Given the description of an element on the screen output the (x, y) to click on. 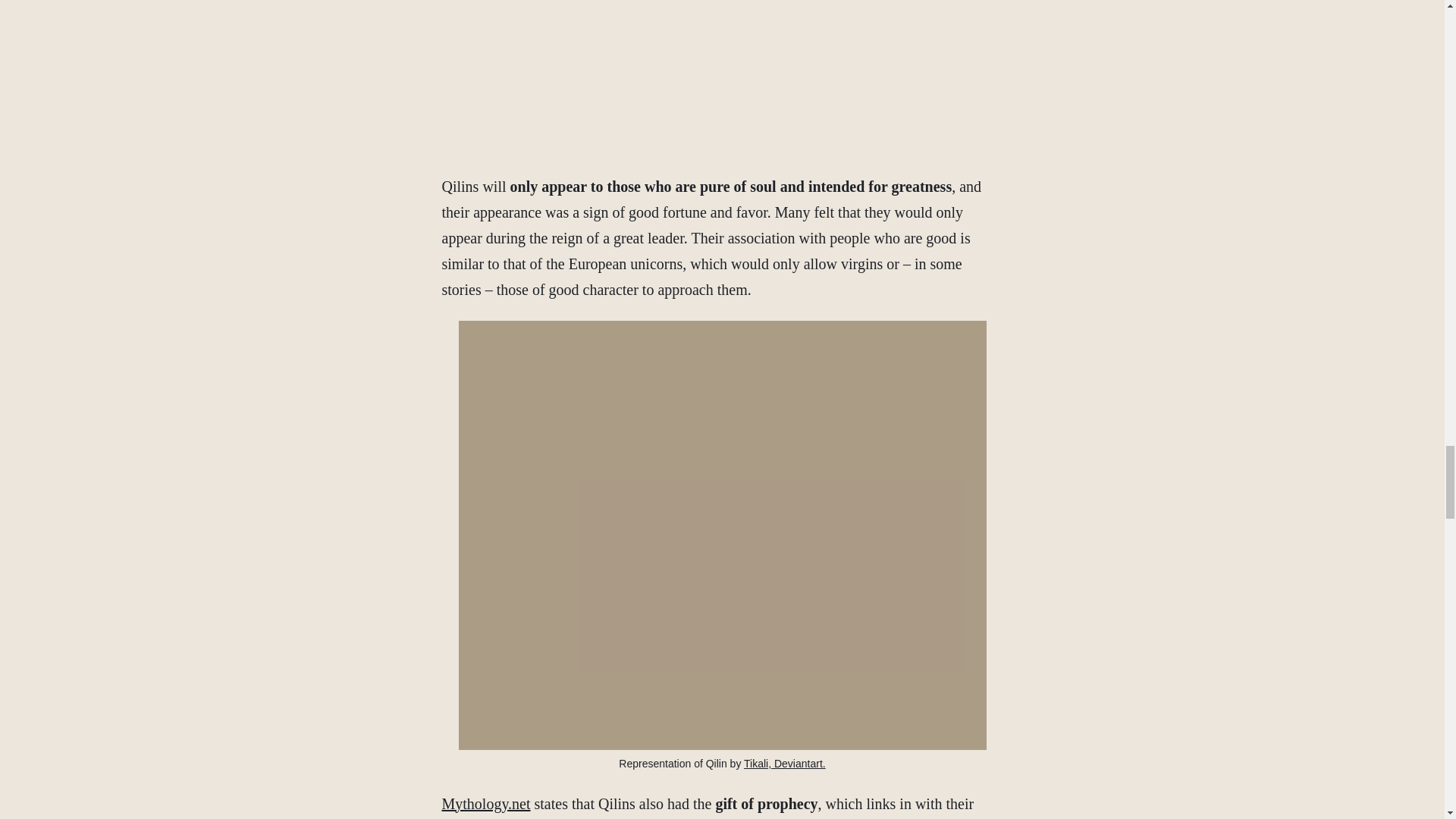
Tikali, Deviantart. (784, 763)
Mythology.net (485, 803)
